Given the description of an element on the screen output the (x, y) to click on. 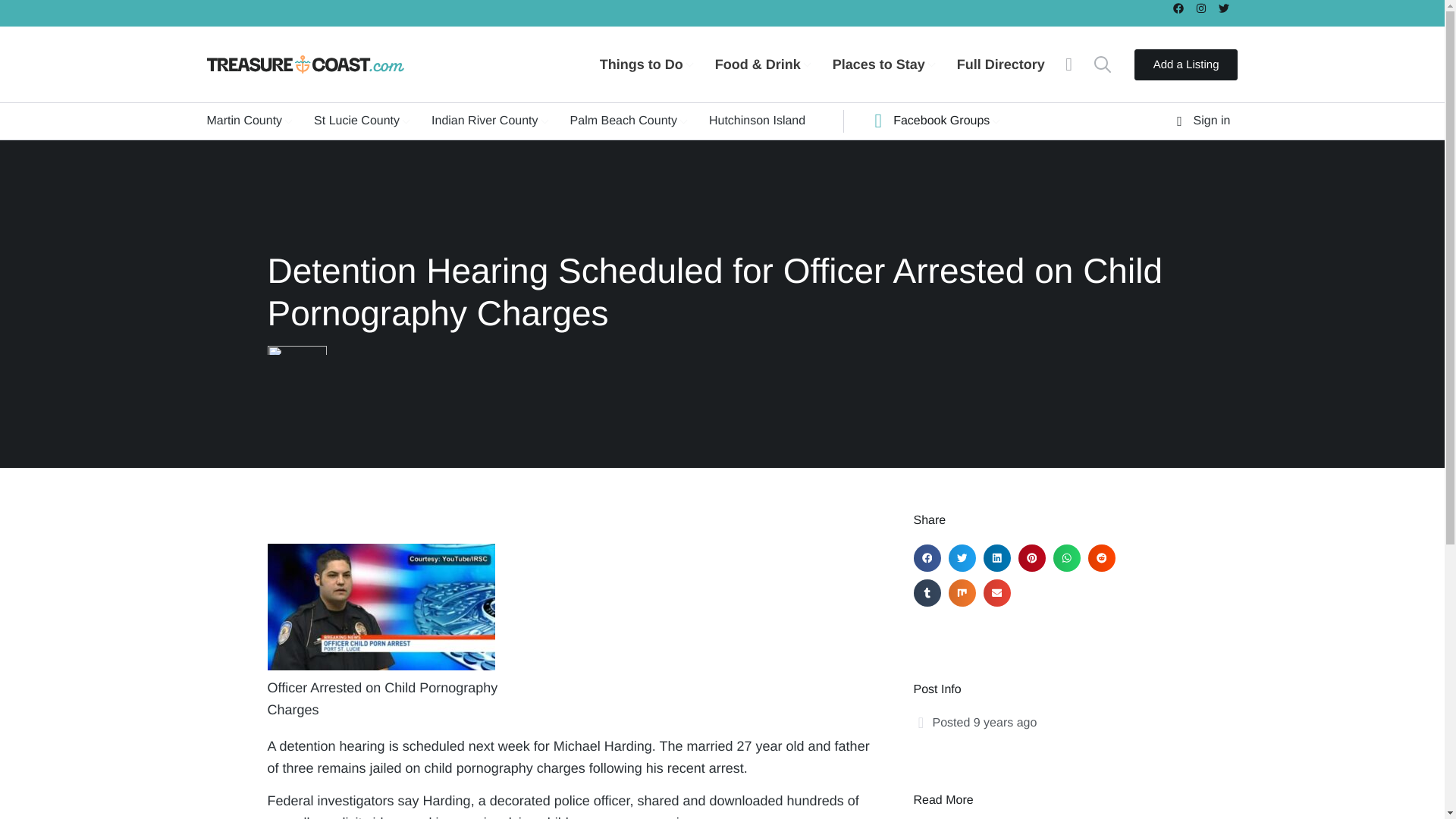
Facebook Groups (944, 120)
